Given the description of an element on the screen output the (x, y) to click on. 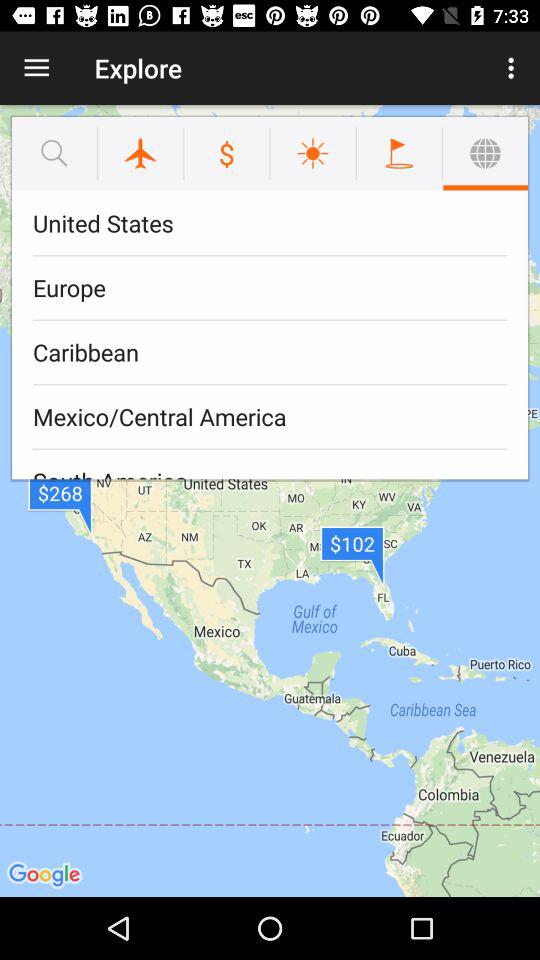
scroll to mexico/central america item (270, 416)
